Given the description of an element on the screen output the (x, y) to click on. 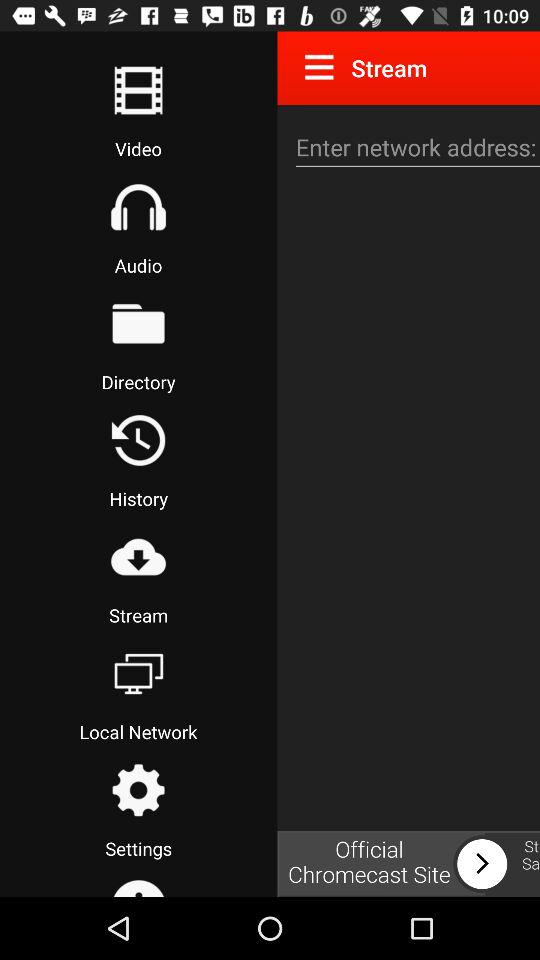
open directory (138, 323)
